Given the description of an element on the screen output the (x, y) to click on. 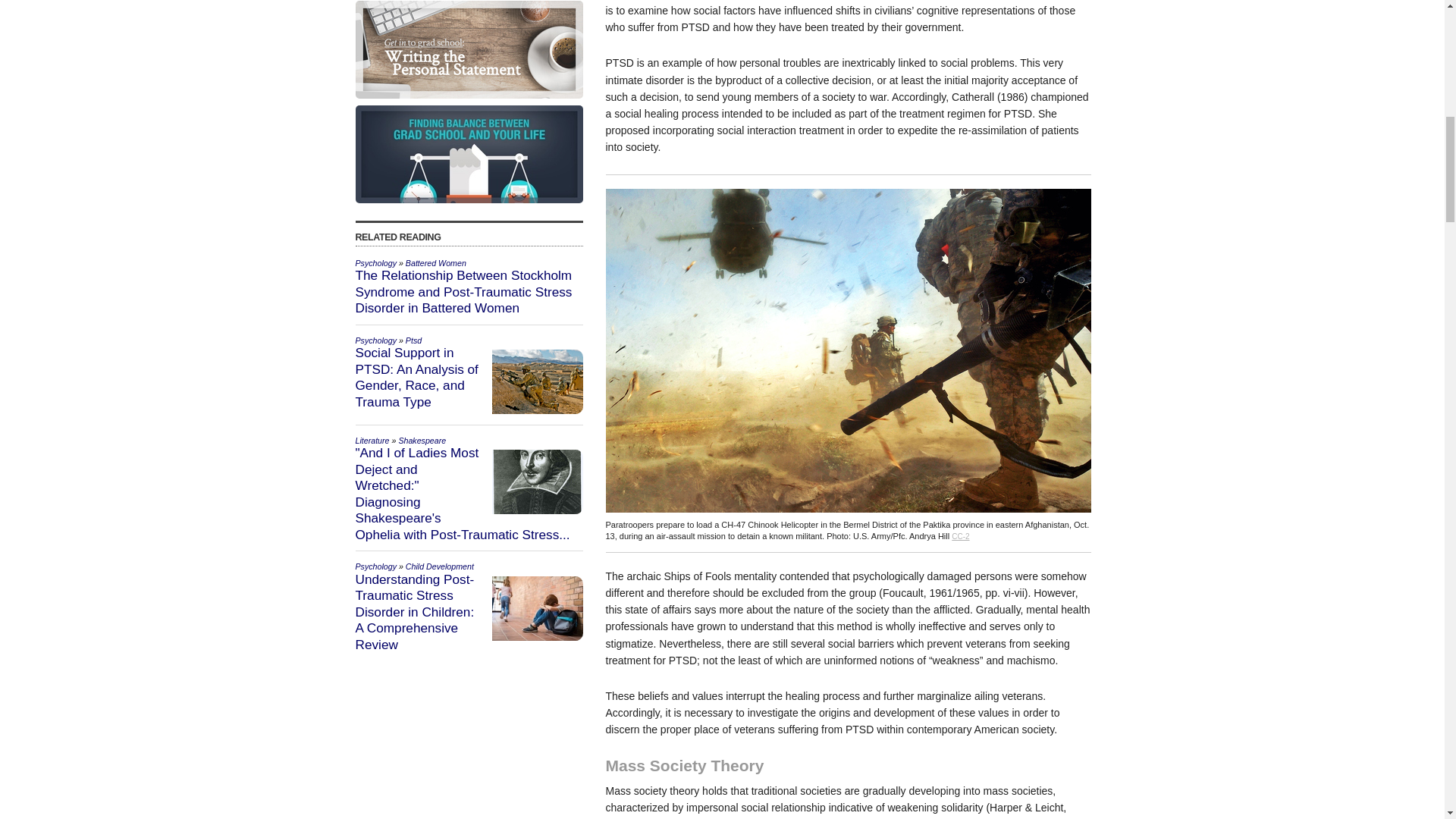
Writing a Graduate School Personal Statement (468, 49)
Finding Balance in Graduate School (468, 154)
Creative Commons License (960, 536)
